Given the description of an element on the screen output the (x, y) to click on. 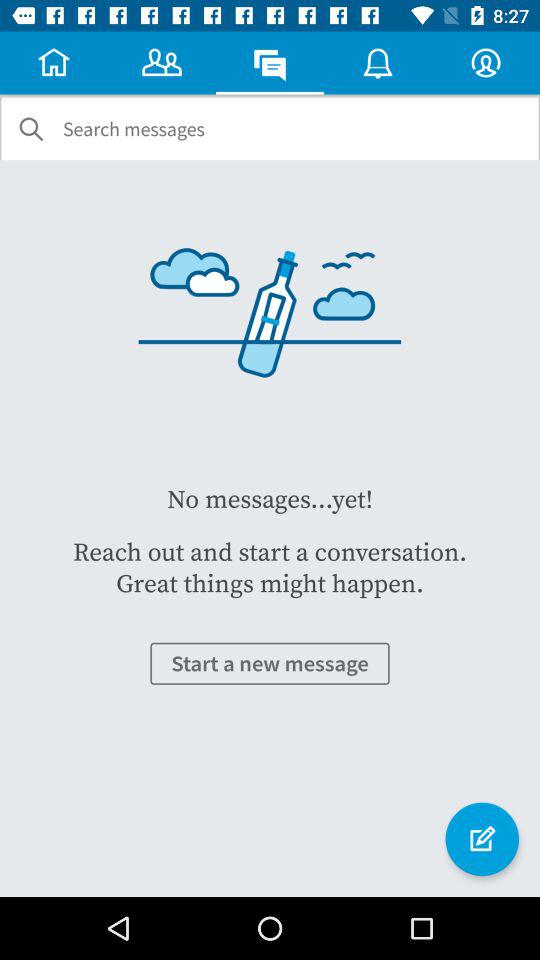
jump to the search messages (133, 129)
